Given the description of an element on the screen output the (x, y) to click on. 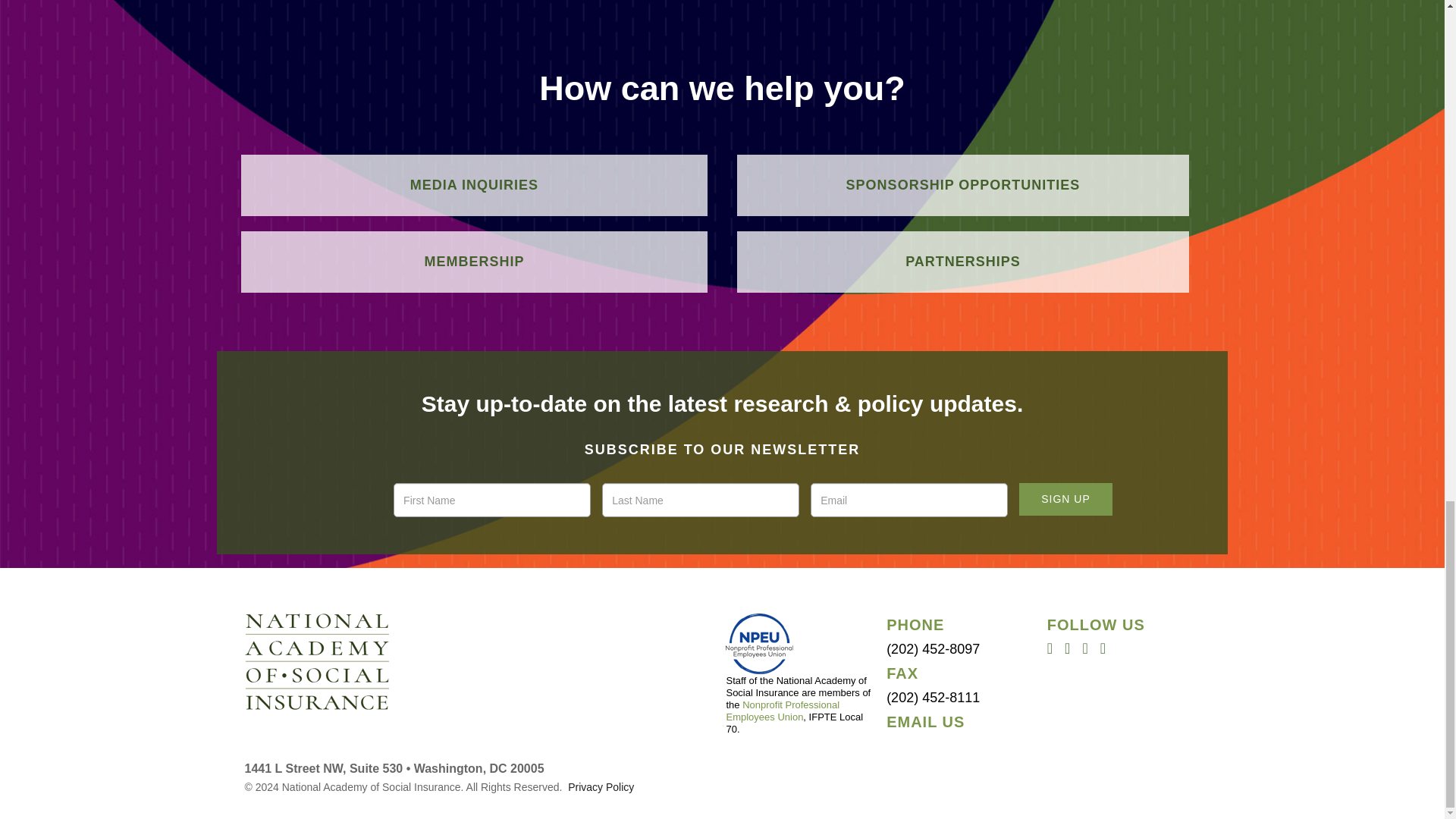
SIGN UP (1065, 499)
